Given the description of an element on the screen output the (x, y) to click on. 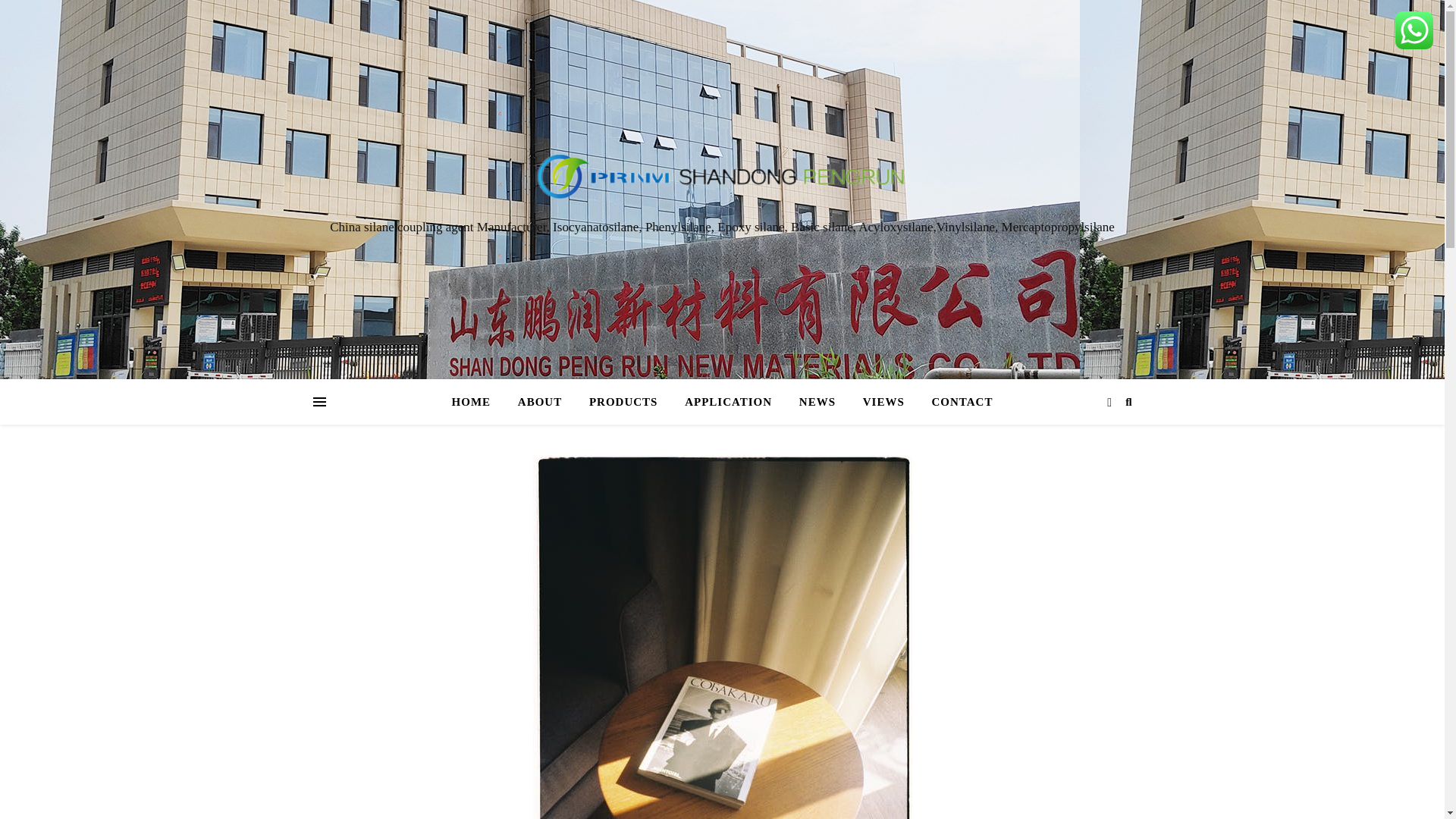
PRODUCTS (622, 402)
Shandong Pengrun New Materials Co., Ltd. (721, 175)
ABOUT (539, 402)
NEWS (817, 402)
CONTACT (956, 402)
VIEWS (883, 402)
APPLICATION (728, 402)
HOME (477, 402)
